Given the description of an element on the screen output the (x, y) to click on. 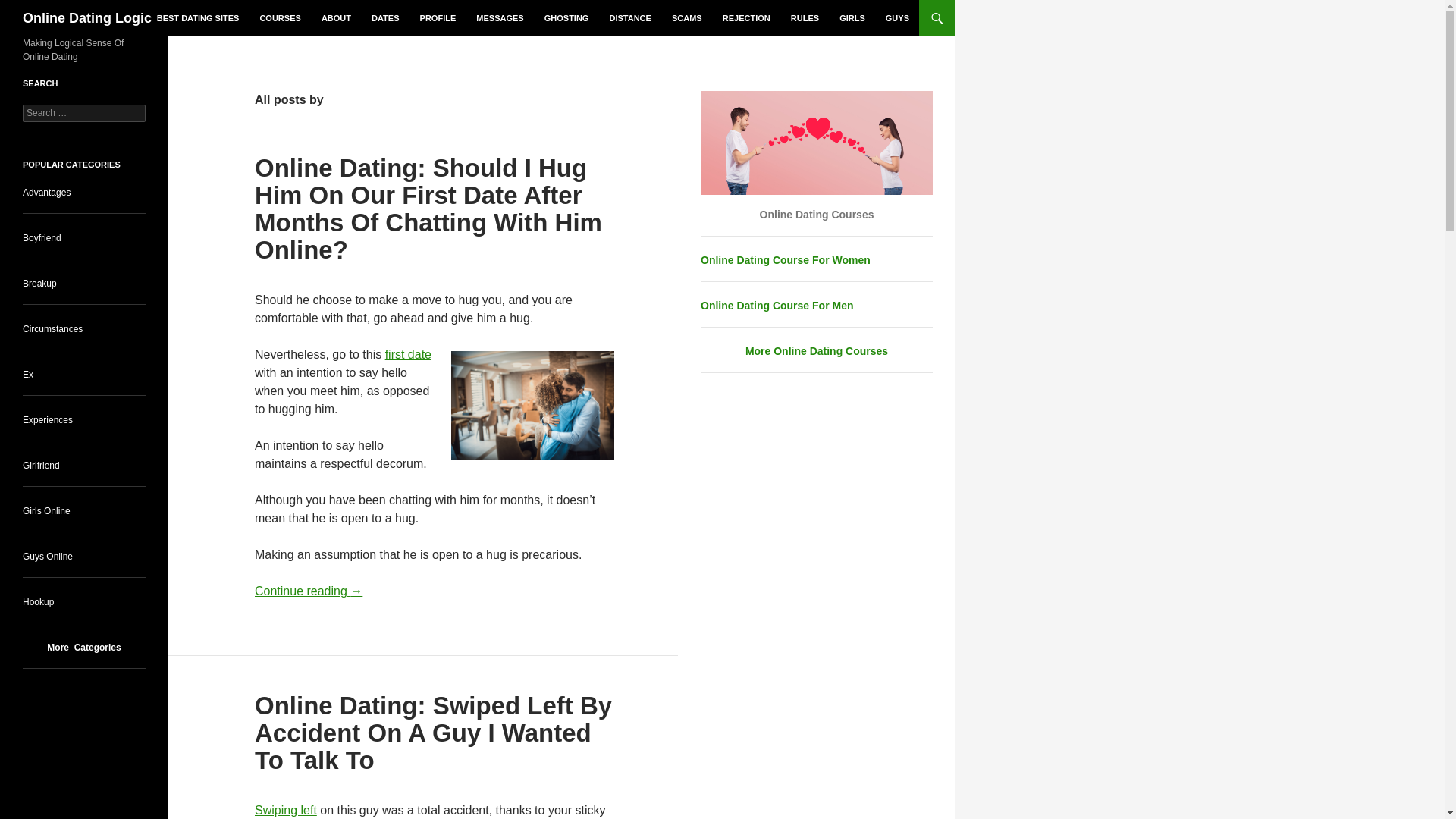
RULES (804, 18)
GUYS (897, 18)
COURSES (279, 18)
Swiping left (285, 809)
DISTANCE (629, 18)
SCAMS (686, 18)
GHOSTING (566, 18)
Online Dating Logic (87, 18)
GIRLS (852, 18)
DATES (384, 18)
REJECTION (745, 18)
first date (407, 354)
PROFILE (437, 18)
